Given the description of an element on the screen output the (x, y) to click on. 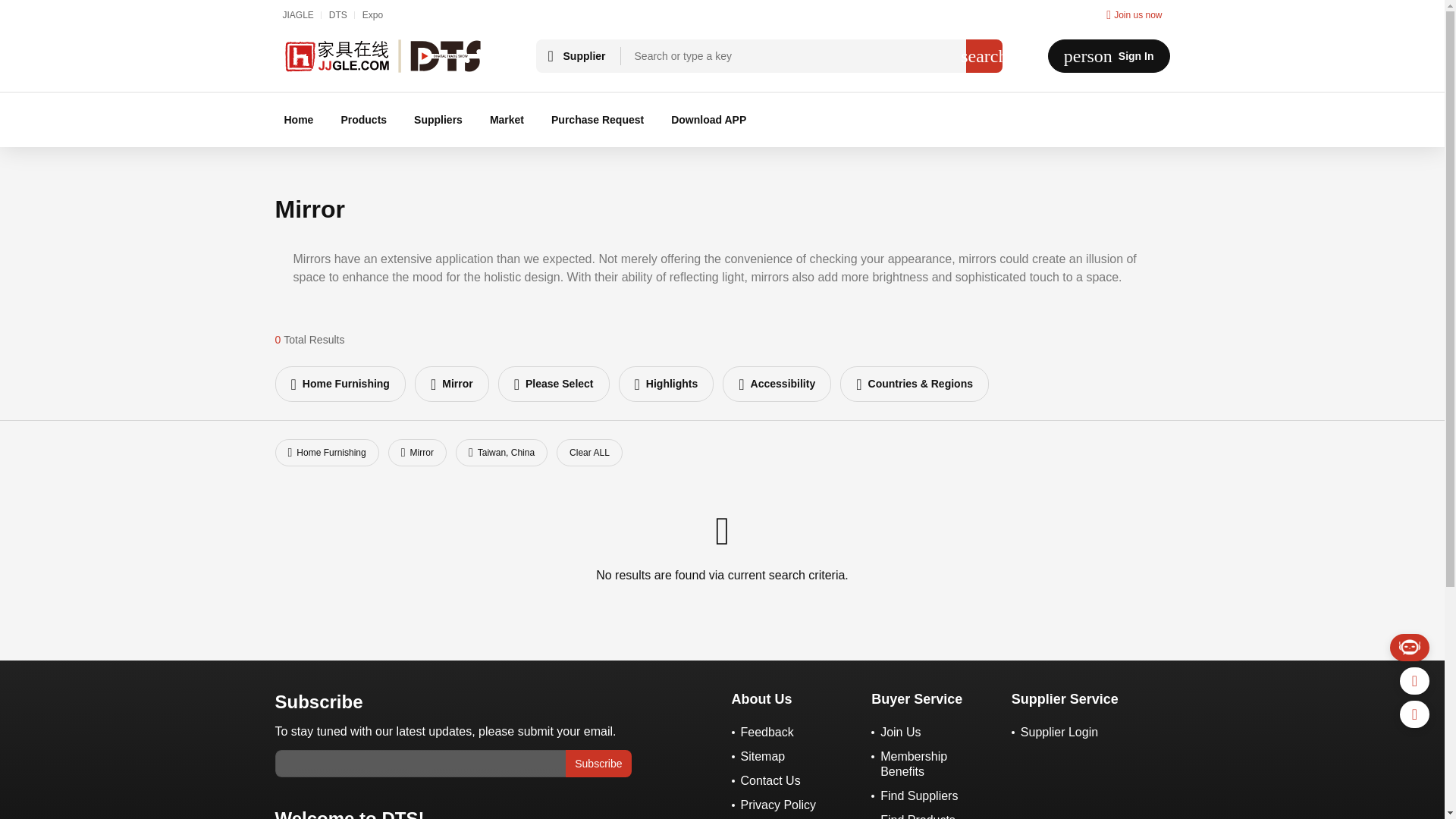
The Leading B2B Furniture Trading Platform (382, 55)
DTS (338, 15)
search (984, 55)
Suppliers (437, 119)
JIAGLE (297, 15)
Home Furnishing (1109, 55)
Mirror (339, 384)
Supplier (451, 384)
Expo (577, 55)
